Given the description of an element on the screen output the (x, y) to click on. 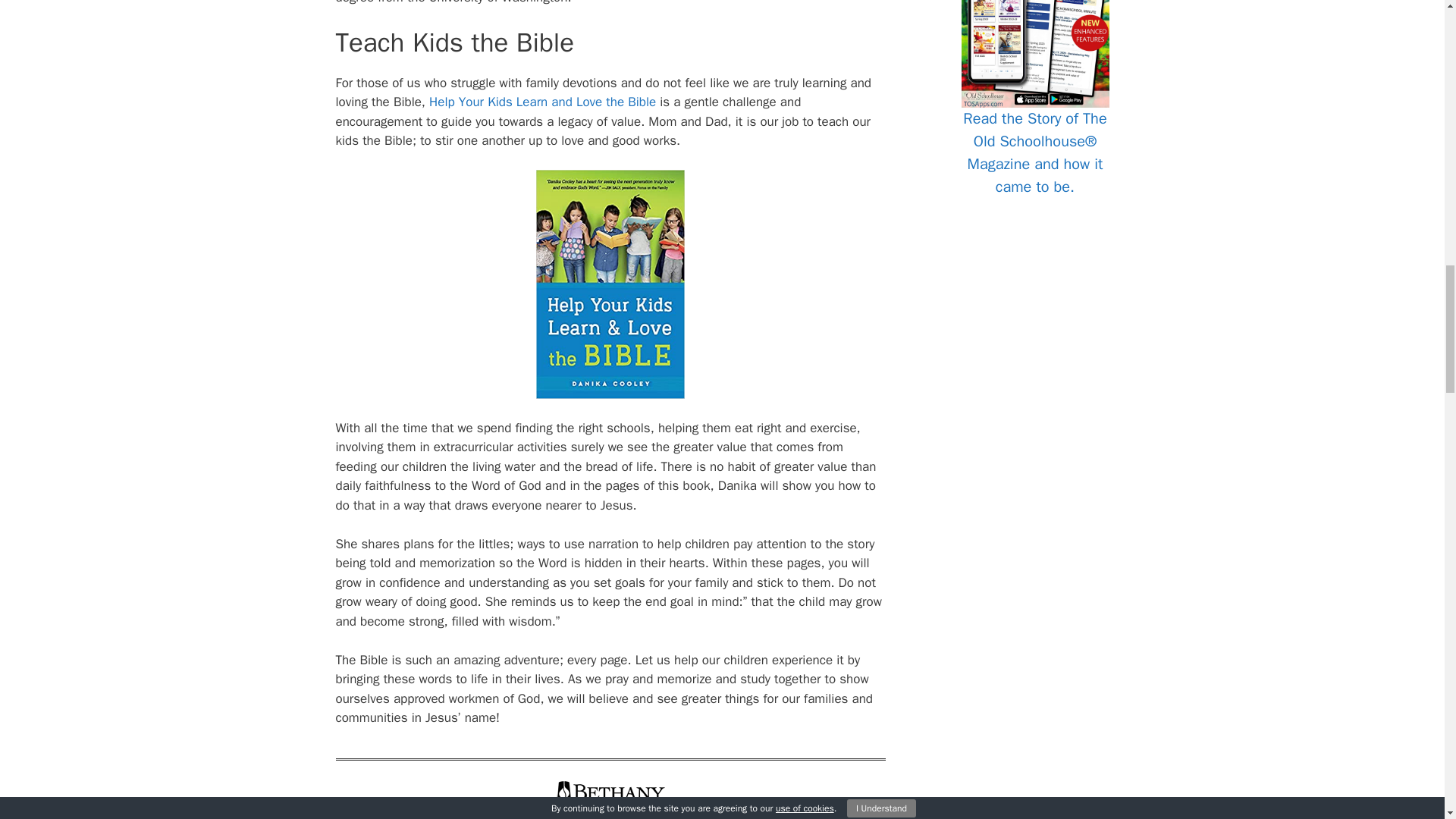
Help Your Kids Learn and Love the Bible (542, 101)
